Given the description of an element on the screen output the (x, y) to click on. 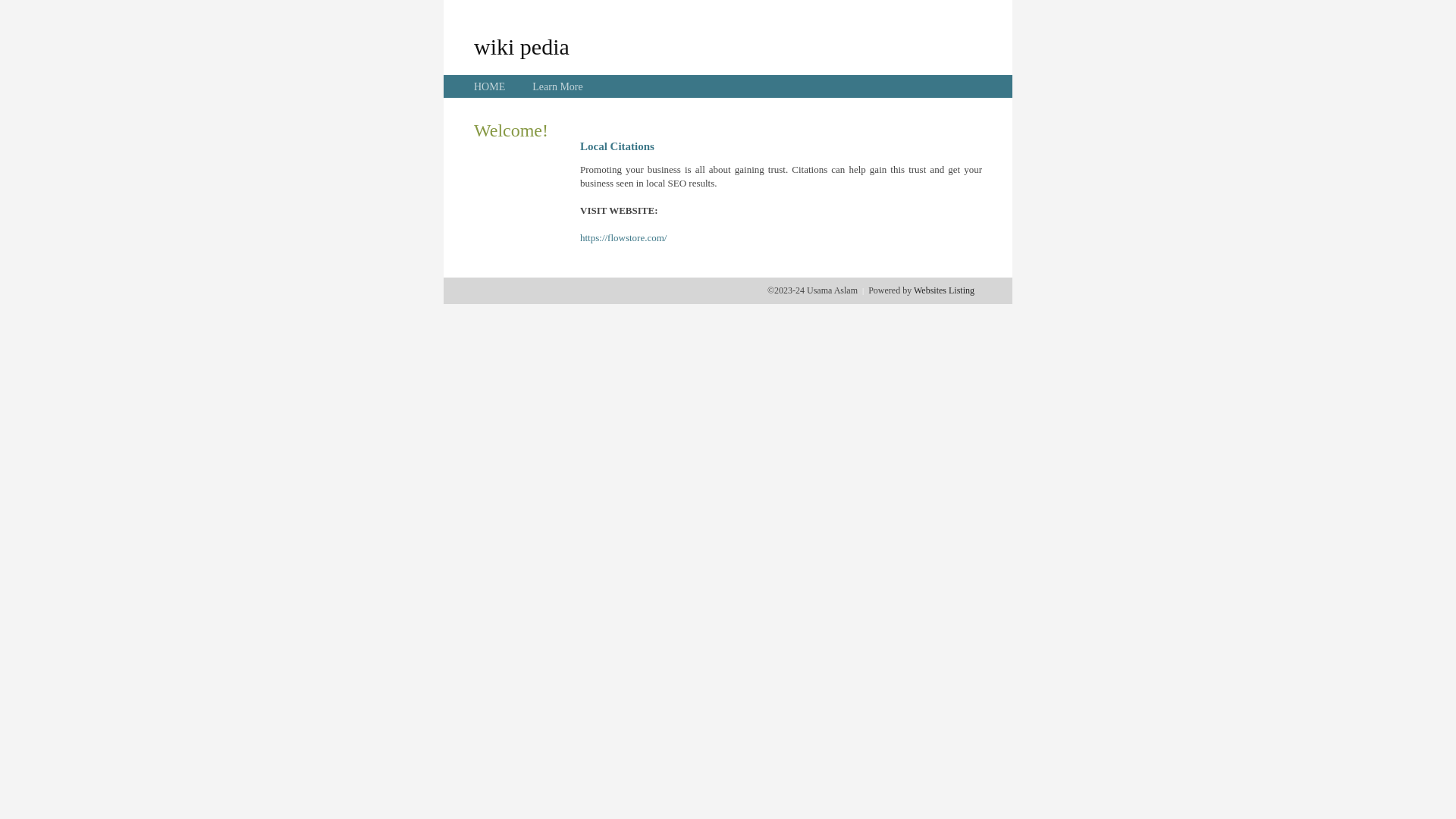
Learn More Element type: text (557, 86)
wiki pedia Element type: text (521, 46)
https://flowstore.com/ Element type: text (623, 237)
Websites Listing Element type: text (943, 290)
HOME Element type: text (489, 86)
